Given the description of an element on the screen output the (x, y) to click on. 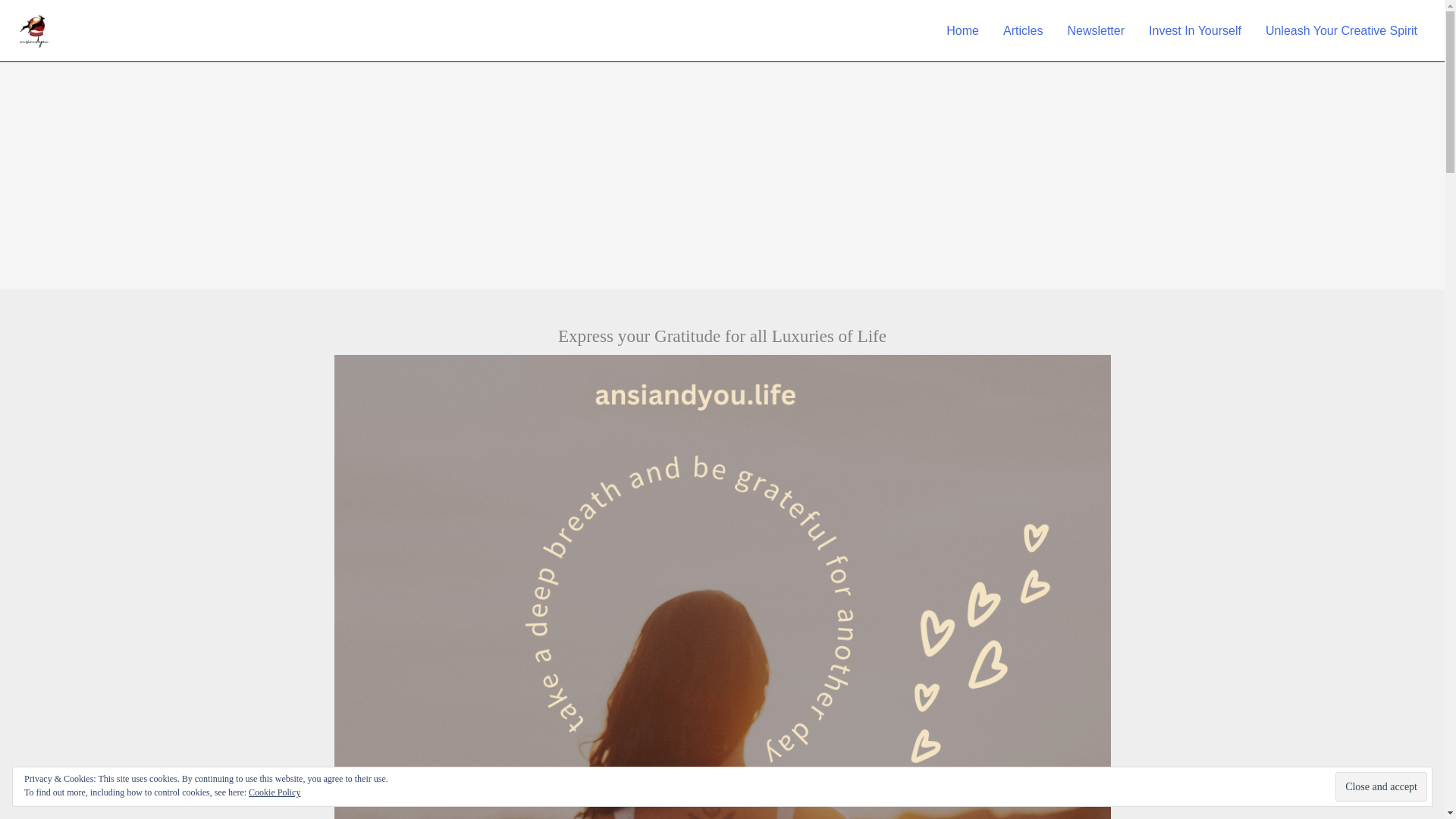
Newsletter (1095, 30)
Close and accept (1380, 786)
Home (962, 30)
Invest In Yourself (1195, 30)
Unleash Your Creative Spirit (1341, 30)
Articles (1022, 30)
